Given the description of an element on the screen output the (x, y) to click on. 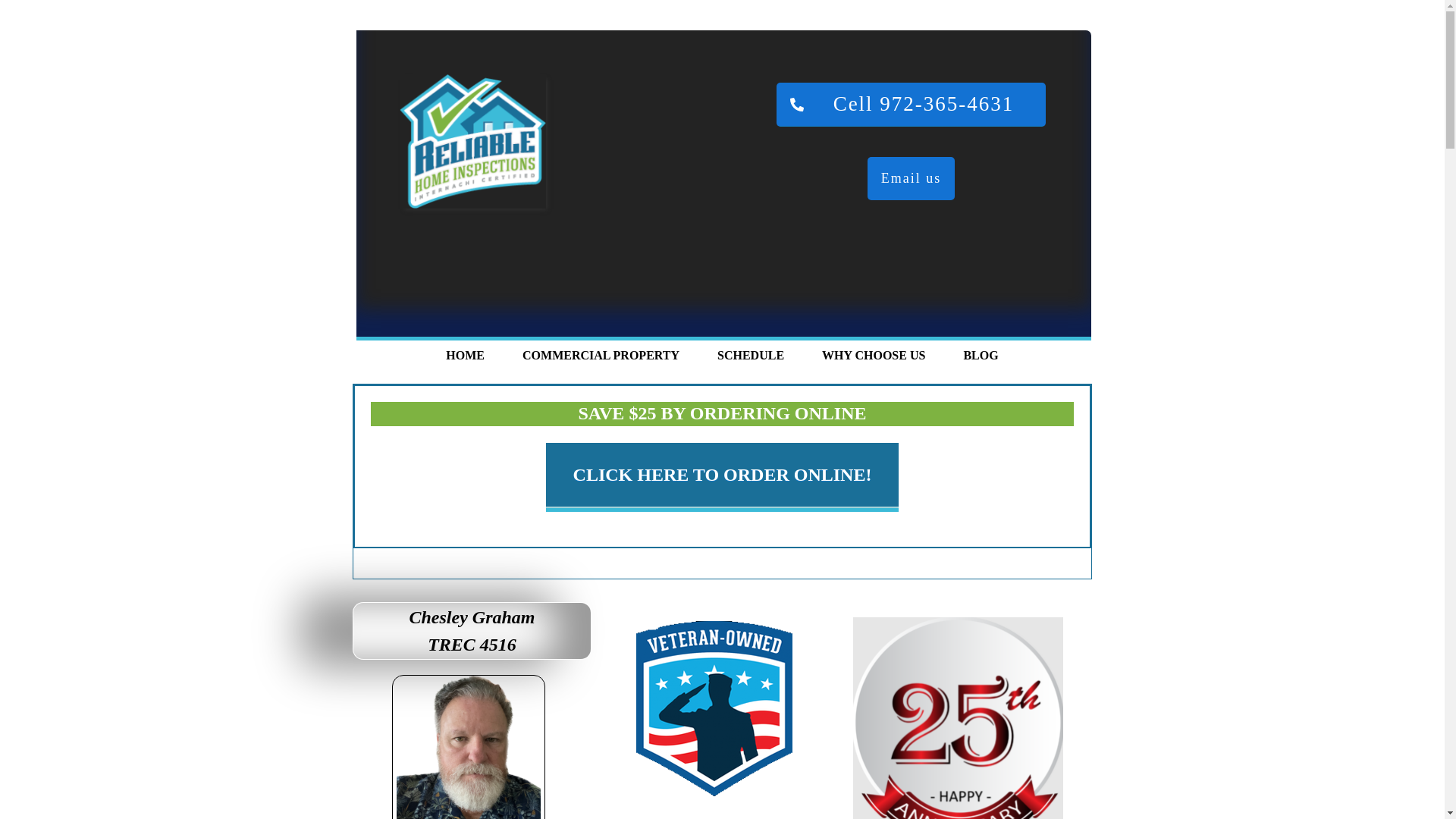
WHY CHOOSE US (873, 355)
veteran-owned (712, 708)
SCHEDULE (750, 355)
reliable-home-inspections (472, 141)
CLICK HERE TO ORDER ONLINE! (722, 474)
COMMERCIAL PROPERTY (600, 355)
Cell 972-365-4631 (911, 104)
HOME (464, 355)
Email us (911, 177)
BLOG (979, 355)
25th (957, 718)
Ches Head Shot (469, 747)
